Given the description of an element on the screen output the (x, y) to click on. 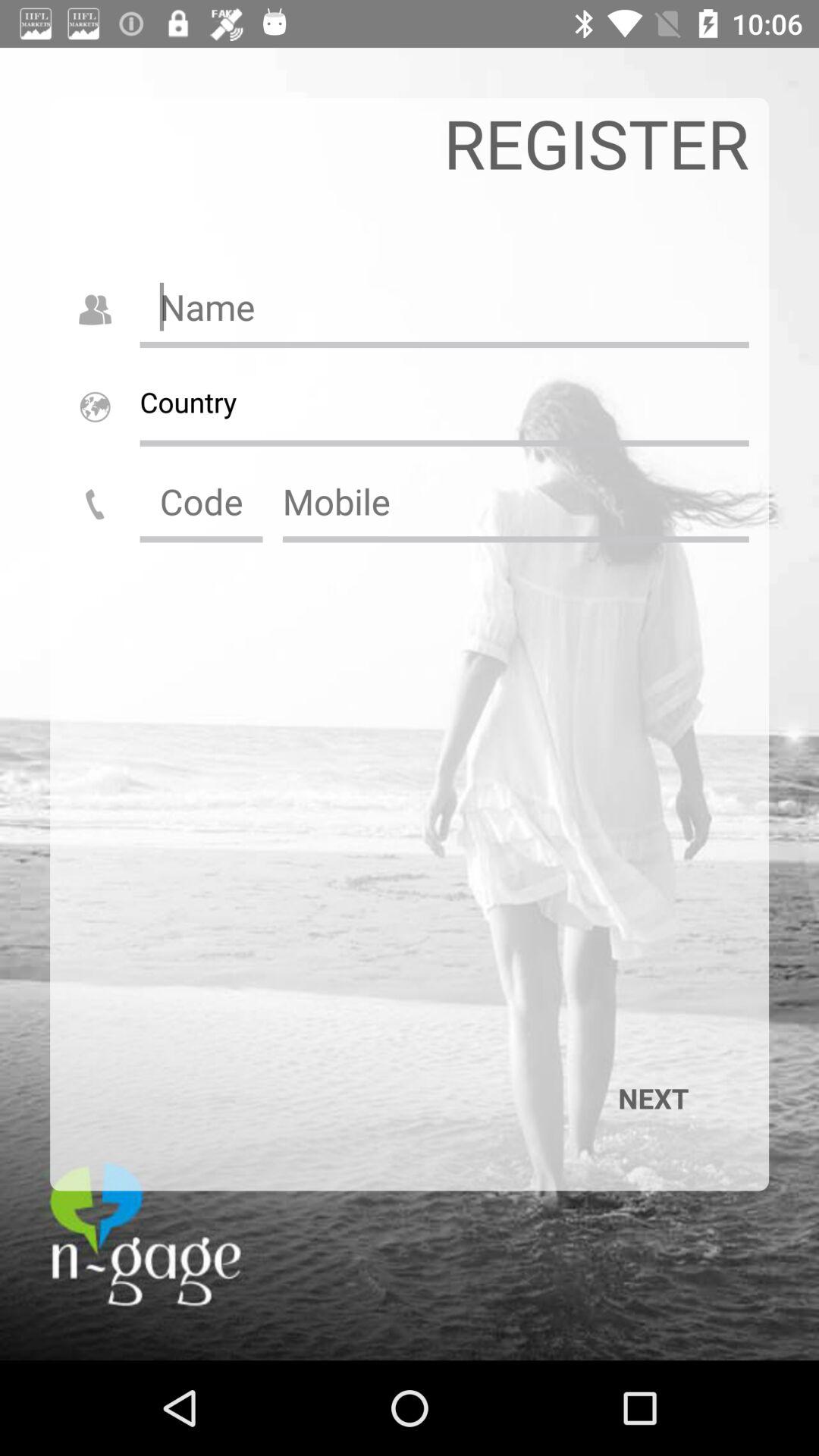
go to search (515, 501)
